Given the description of an element on the screen output the (x, y) to click on. 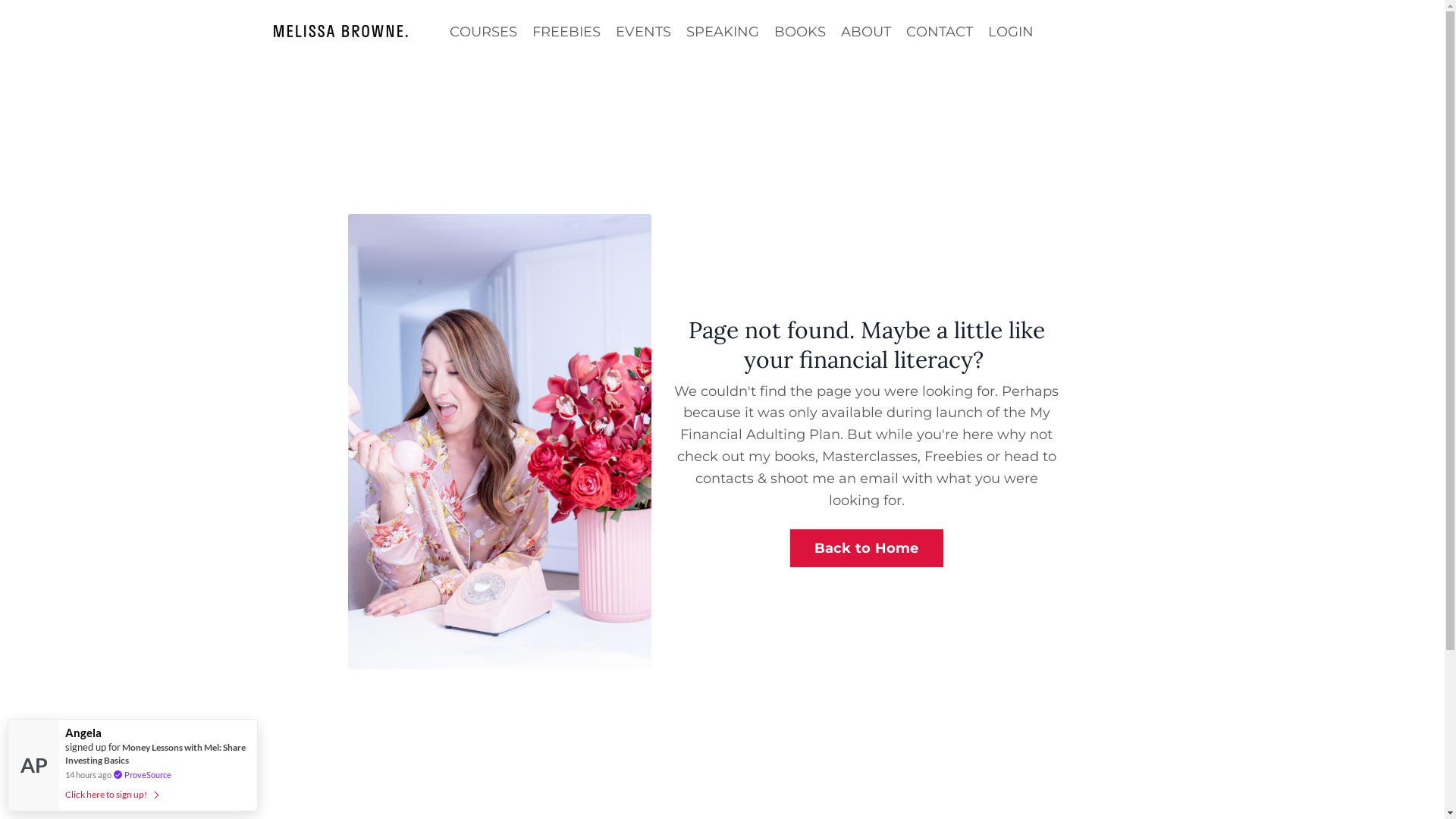
COURSES Element type: text (482, 32)
SPEAKING Element type: text (721, 32)
ABOUT Element type: text (865, 32)
CONTACT Element type: text (938, 32)
BOOKS Element type: text (799, 32)
Back to Home Element type: text (866, 548)
FREEBIES Element type: text (566, 32)
LOGIN Element type: text (1009, 32)
EVENTS Element type: text (643, 32)
